Given the description of an element on the screen output the (x, y) to click on. 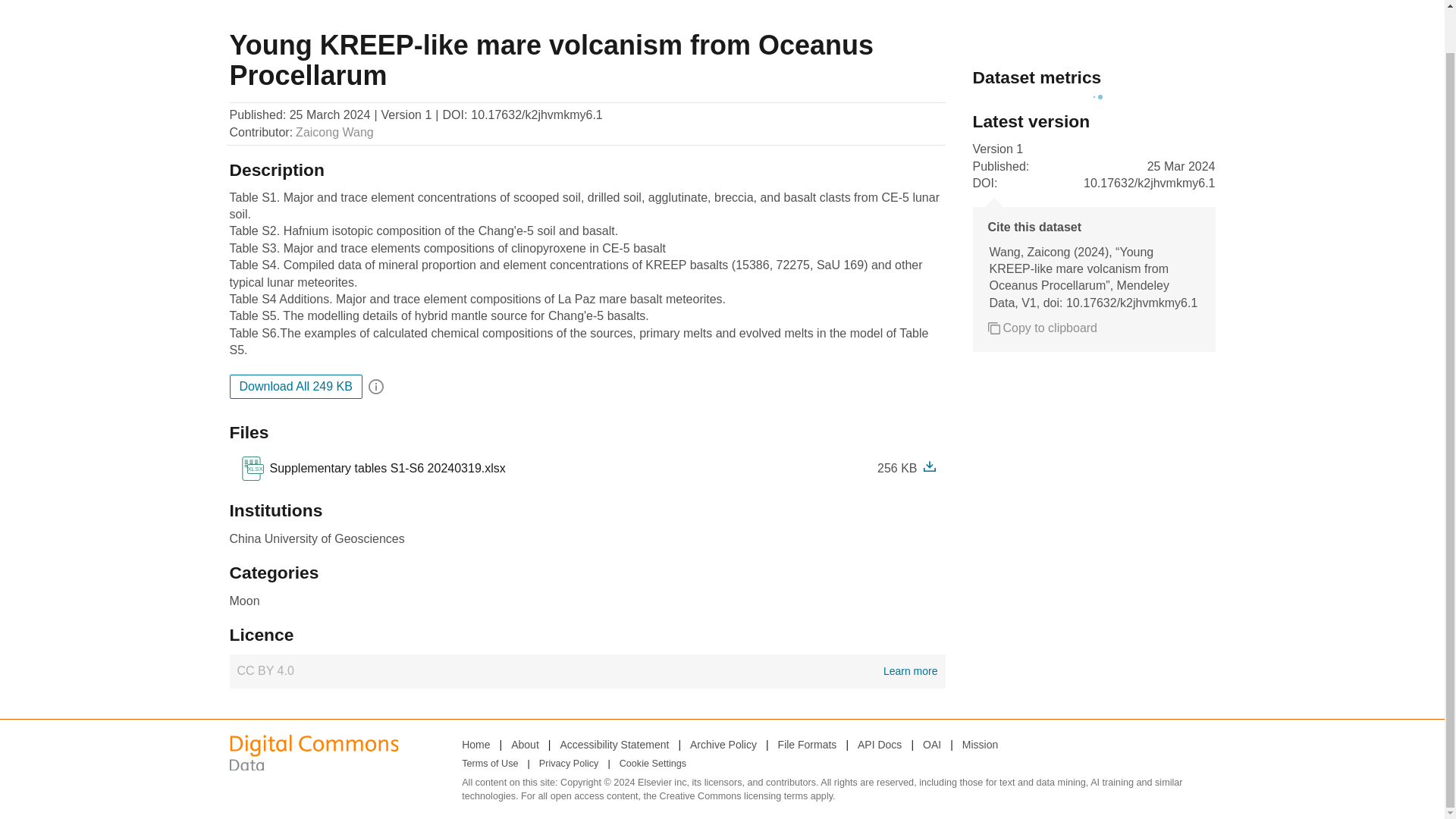
Archive Policy (723, 744)
OAI (931, 744)
Privacy Policy (568, 763)
Accessibility Statement (613, 744)
Copy to clipboard (586, 670)
Mission (1042, 328)
Terms of Use (979, 744)
Supplementary tables S1-S6 20240319.xlsx (372, 468)
